Given the description of an element on the screen output the (x, y) to click on. 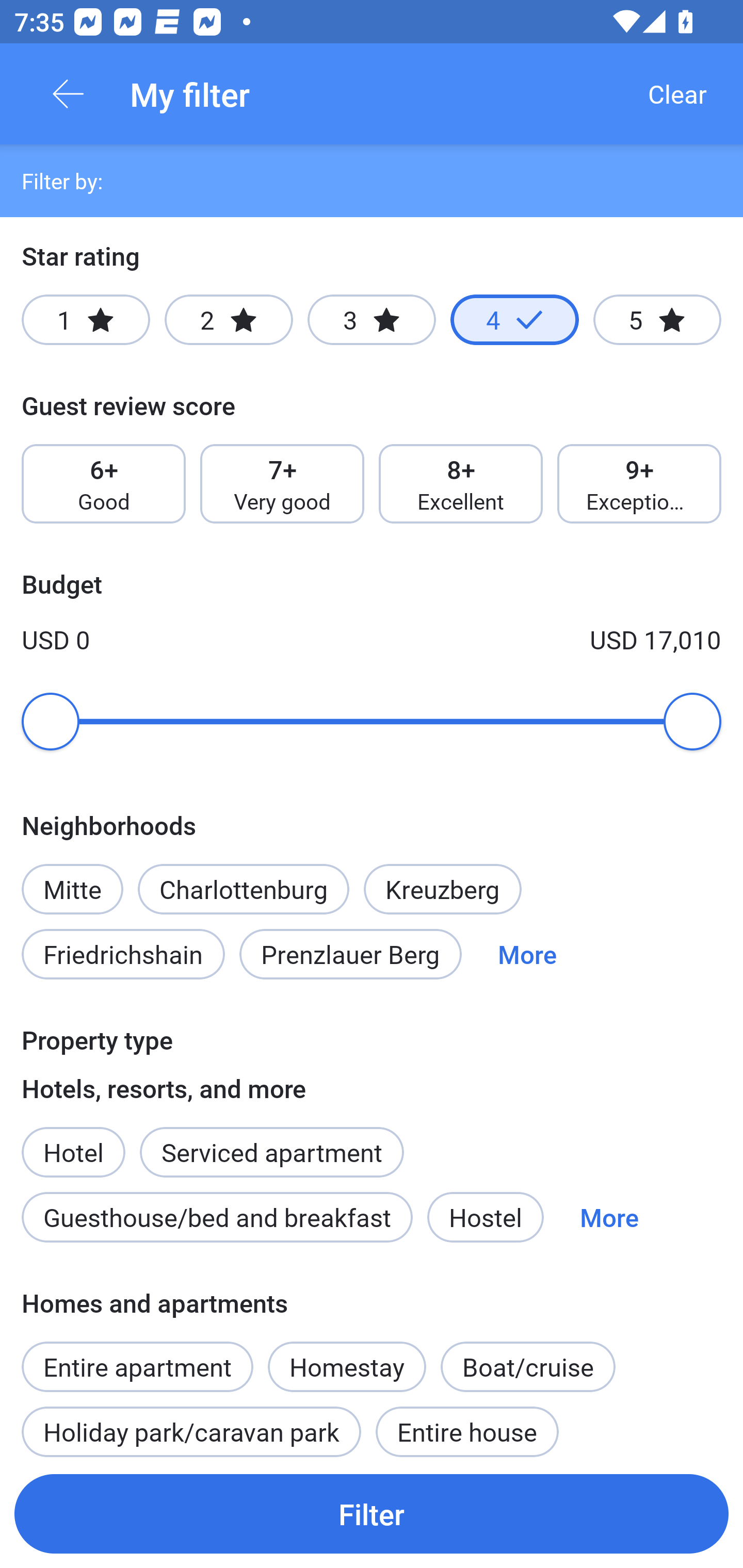
Clear (676, 93)
1 (85, 319)
2 (228, 319)
3 (371, 319)
5 (657, 319)
6+ Good (103, 483)
7+ Very good (281, 483)
8+ Excellent (460, 483)
9+ Exceptional (639, 483)
Mitte (72, 878)
Charlottenburg (243, 888)
Kreuzberg (442, 888)
Friedrichshain (123, 954)
Prenzlauer Berg (350, 954)
More (527, 954)
Hotel (73, 1141)
Serviced apartment (271, 1141)
Guesthouse/bed and breakfast (217, 1217)
Hostel (485, 1217)
More (608, 1217)
Entire apartment (137, 1356)
Homestay (346, 1366)
Boat/cruise (527, 1366)
Holiday park/caravan park (191, 1424)
Entire house (466, 1424)
Filter (371, 1513)
